Given the description of an element on the screen output the (x, y) to click on. 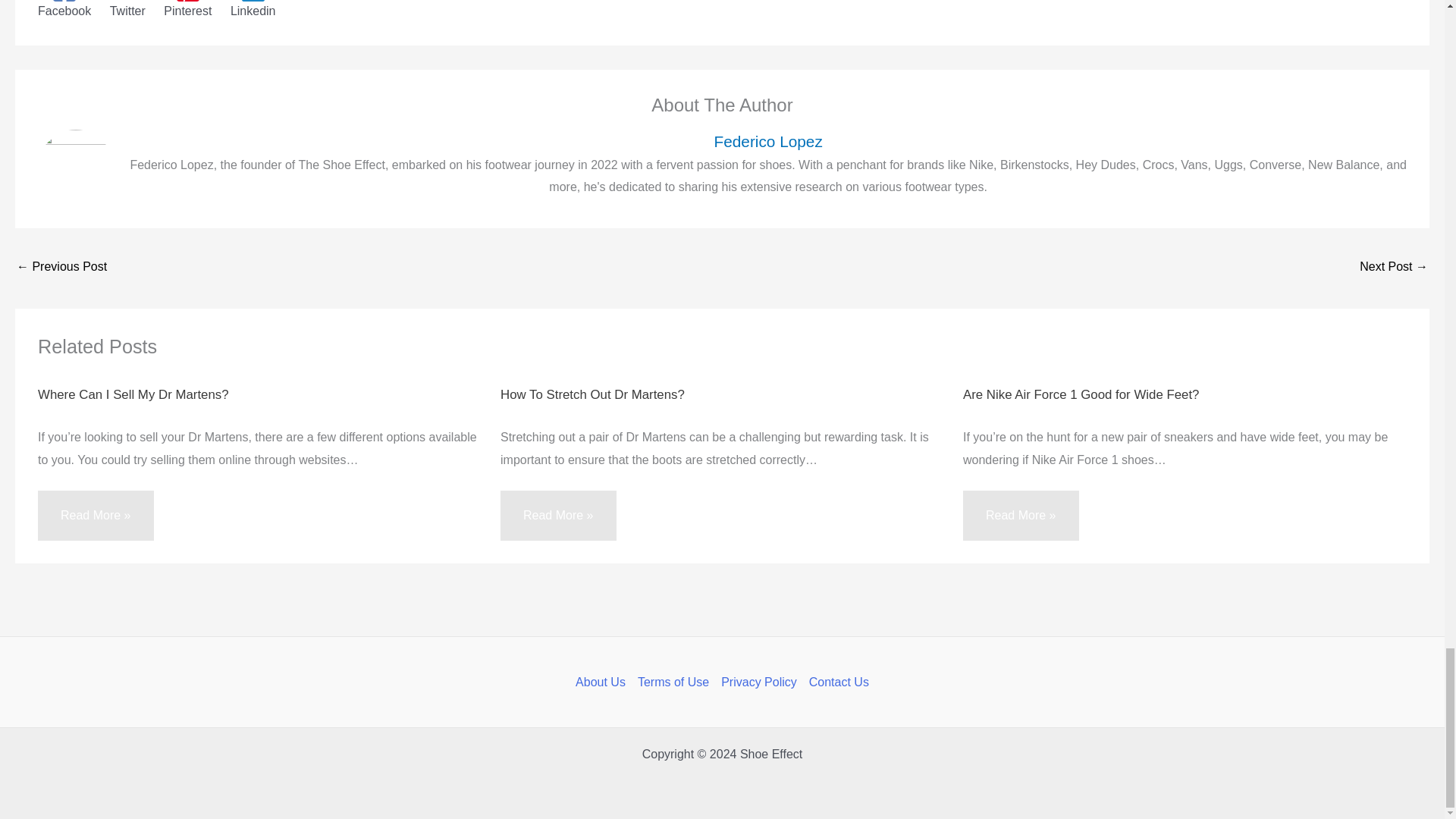
Facebook (63, 9)
Federico Lopez (767, 141)
Where Can I Sell My Dr Martens? (132, 394)
Twitter (127, 9)
Are Nike Air Force 1 Good for Wide Feet? (1080, 394)
Linking Fashion And Elegance: Balmain Chain Sandals (61, 267)
About Us (603, 681)
Classic Black Elegance: Magnanni Mens Black Shoes (1393, 267)
Pinterest (187, 9)
Contact Us (836, 681)
Privacy Policy (758, 681)
Terms of Use (672, 681)
Linkedin (253, 9)
How To Stretch Out Dr Martens? (592, 394)
